Given the description of an element on the screen output the (x, y) to click on. 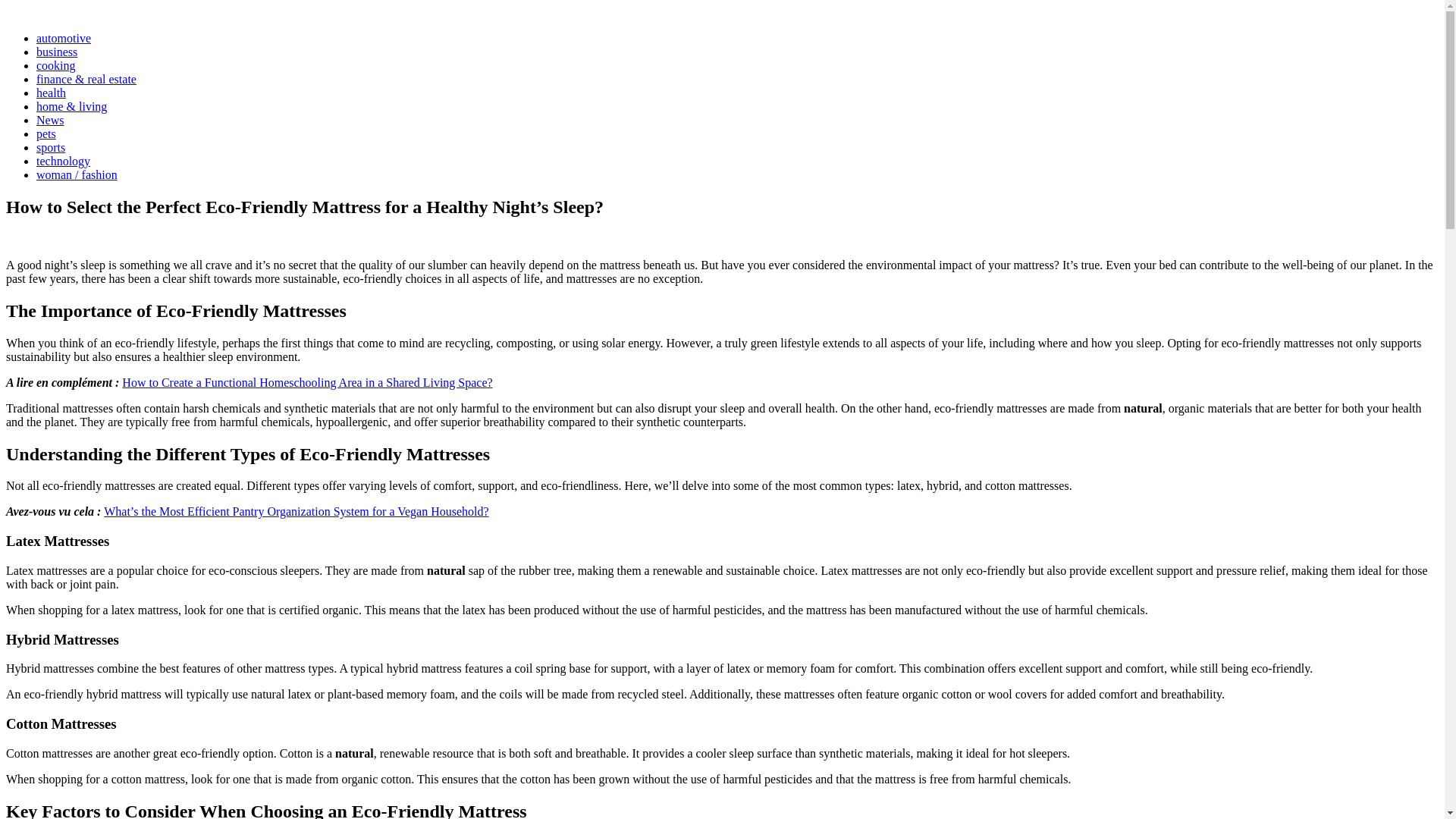
automotive (63, 38)
technology (63, 160)
cooking (55, 65)
News (50, 119)
business (56, 51)
health (50, 92)
pets (46, 133)
sports (50, 146)
